Given the description of an element on the screen output the (x, y) to click on. 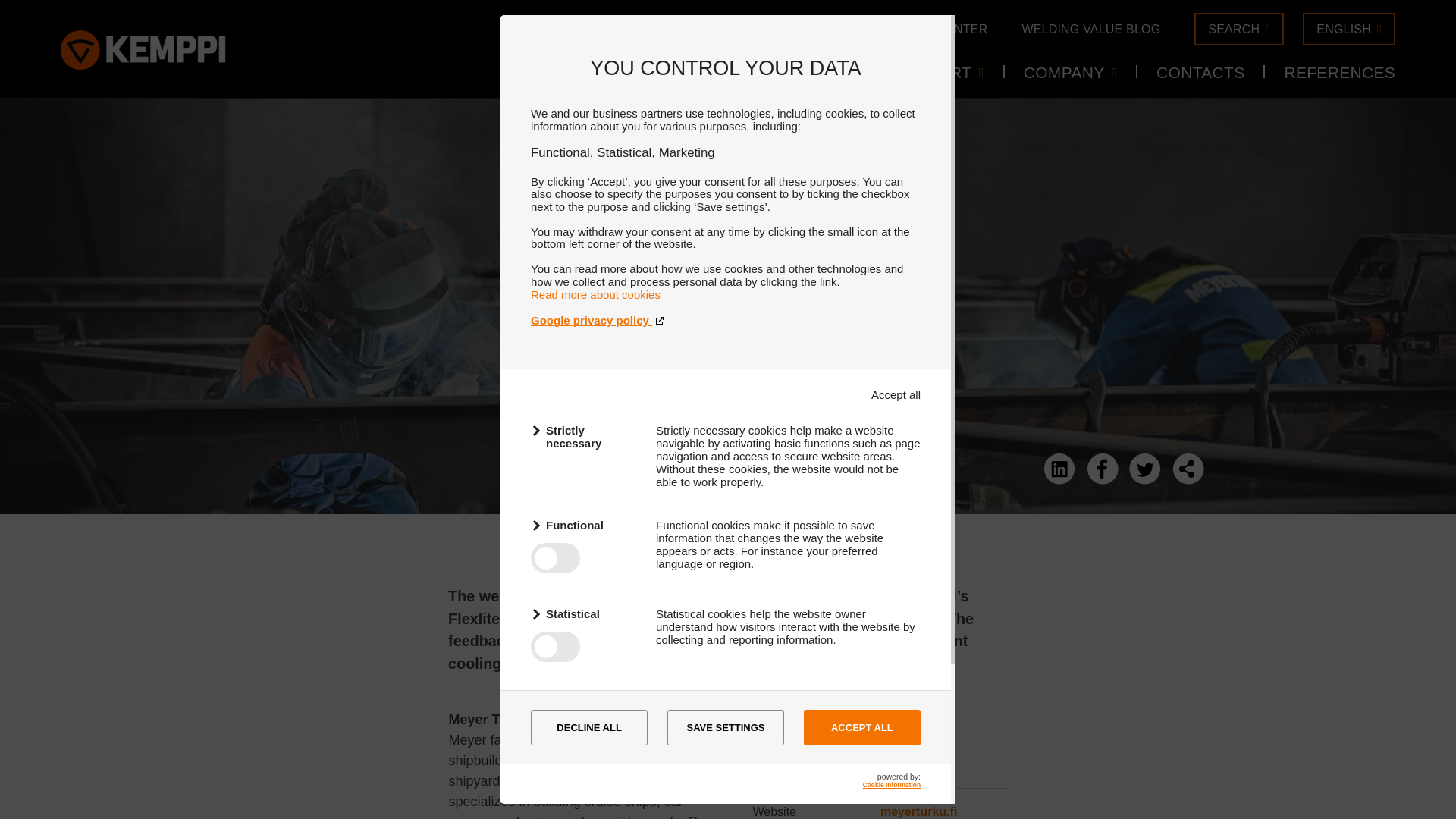
Google privacy policy (725, 319)
Read more about cookies (596, 294)
Strictly necessary (584, 436)
Functional (584, 525)
Marketing (584, 702)
Accept all (895, 394)
Statistical (584, 613)
